Given the description of an element on the screen output the (x, y) to click on. 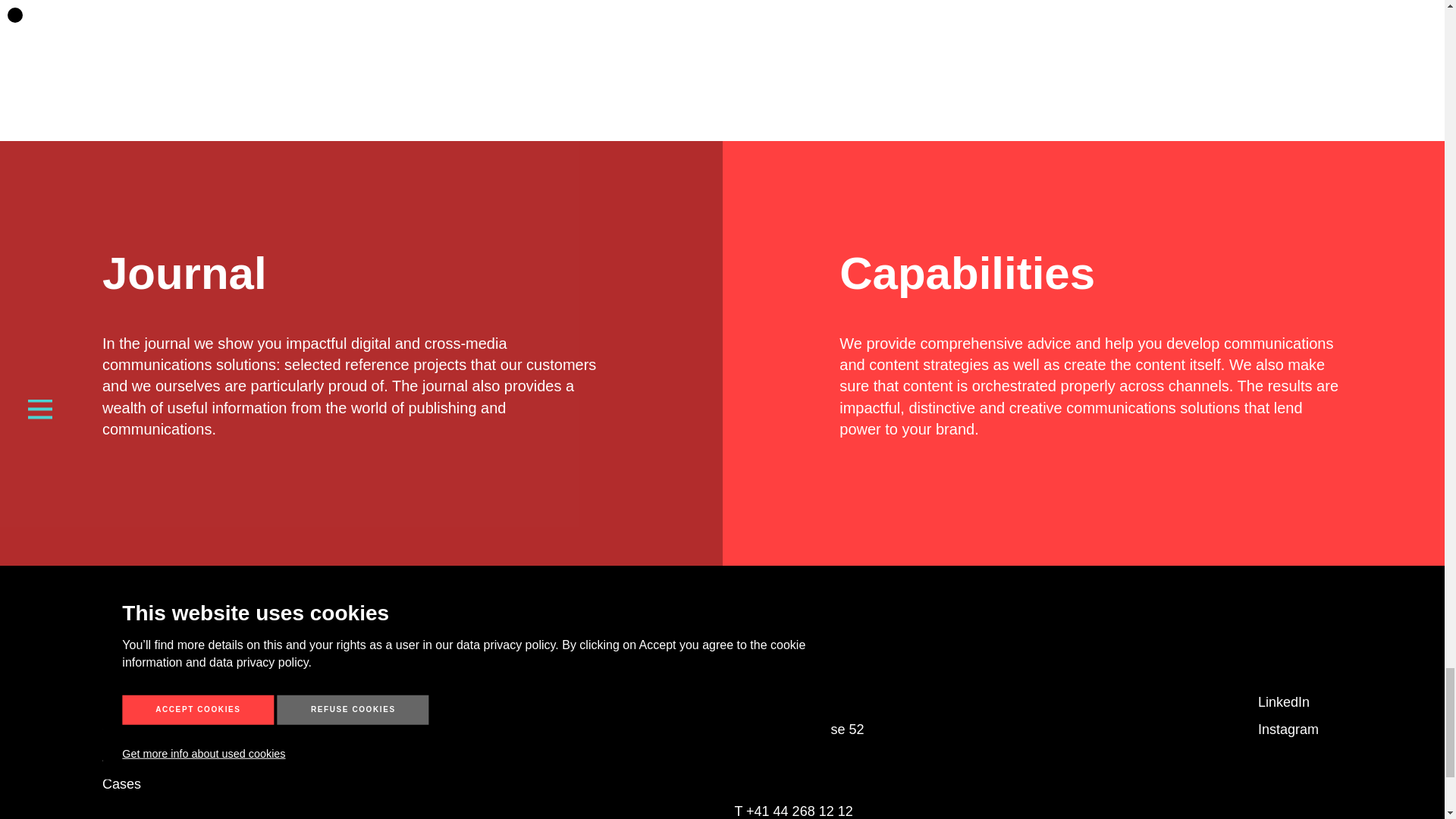
Capabilities (137, 729)
Agency (124, 756)
Publishing (133, 702)
Publishing (133, 702)
